Given the description of an element on the screen output the (x, y) to click on. 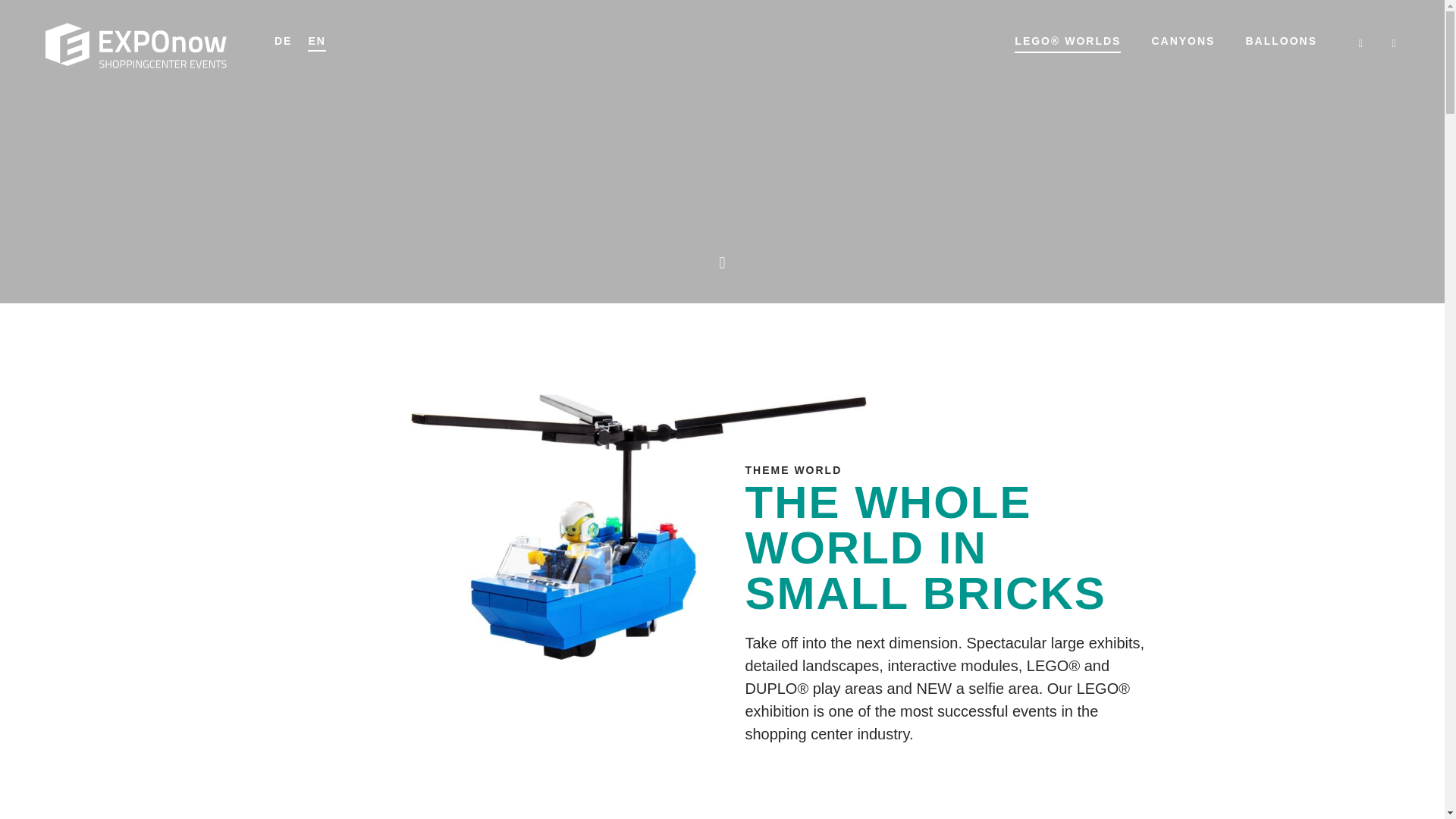
BALLOONS (1280, 40)
CANYONS (1182, 40)
EN (316, 39)
DE (283, 39)
